Given the description of an element on the screen output the (x, y) to click on. 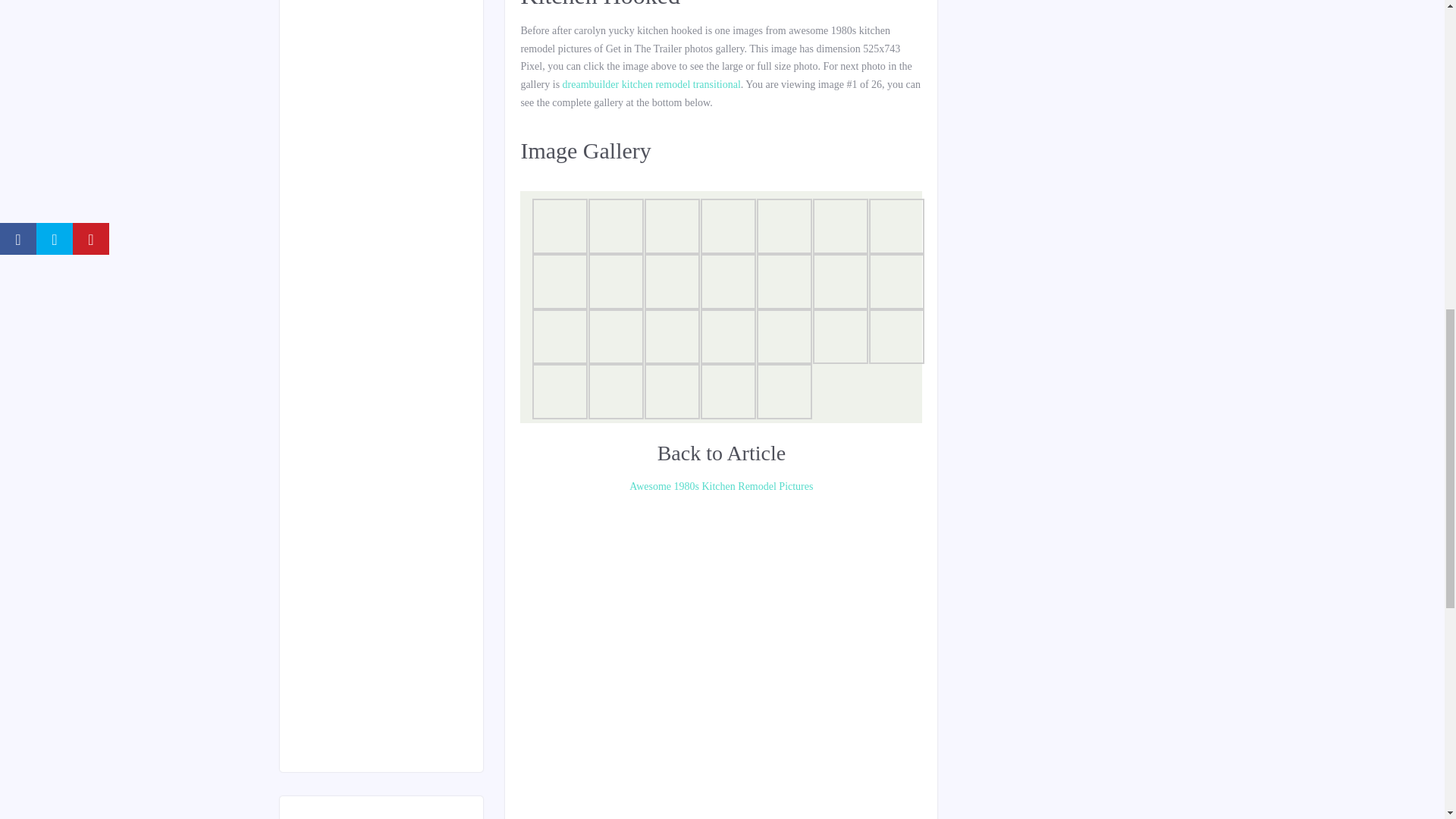
dreambuilder kitchen remodel transitional (651, 84)
Awesome 1980s Kitchen Remodel Pictures (720, 486)
